Given the description of an element on the screen output the (x, y) to click on. 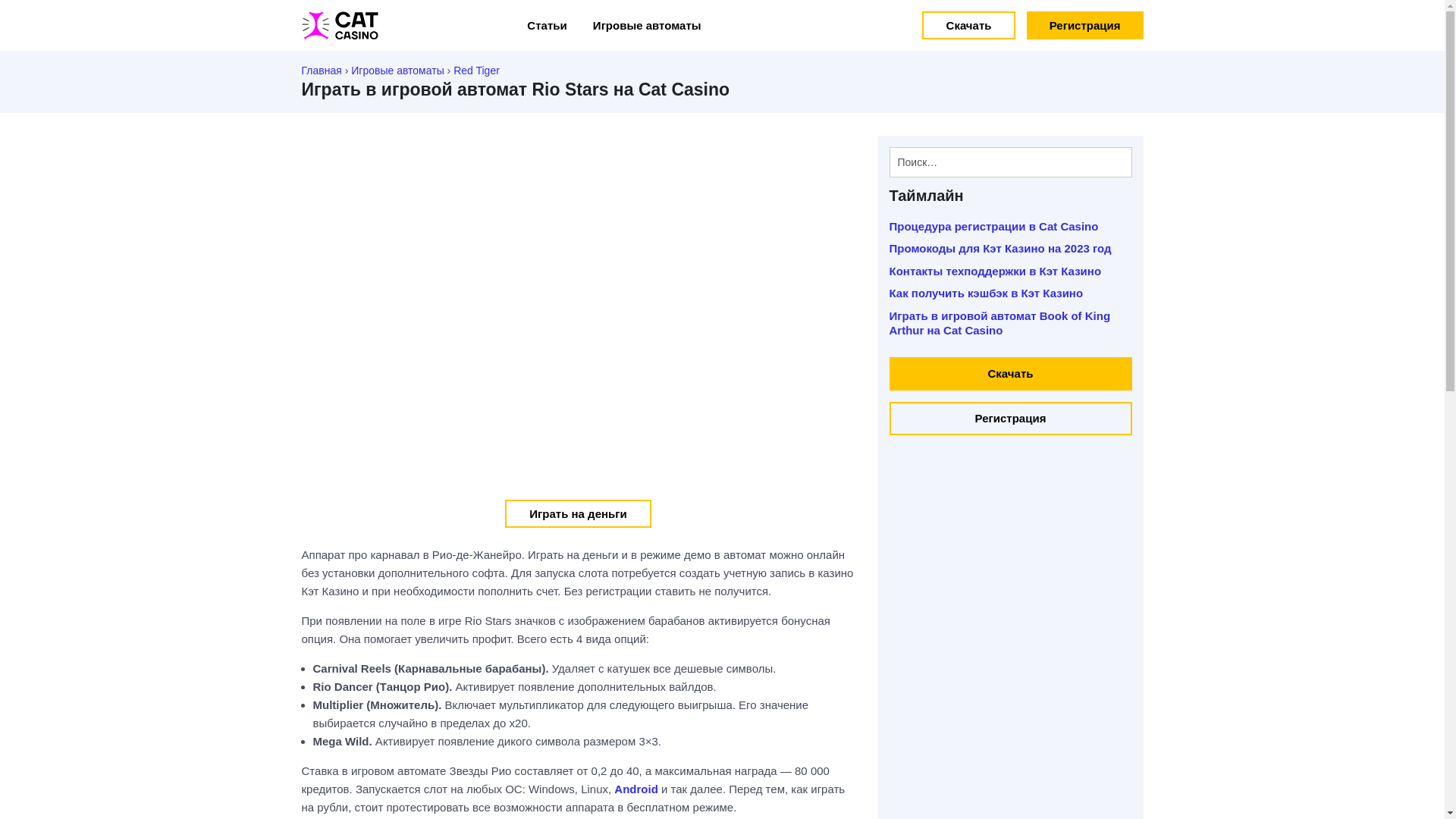
Android Element type: text (636, 788)
Red Tiger Element type: text (476, 70)
